Given the description of an element on the screen output the (x, y) to click on. 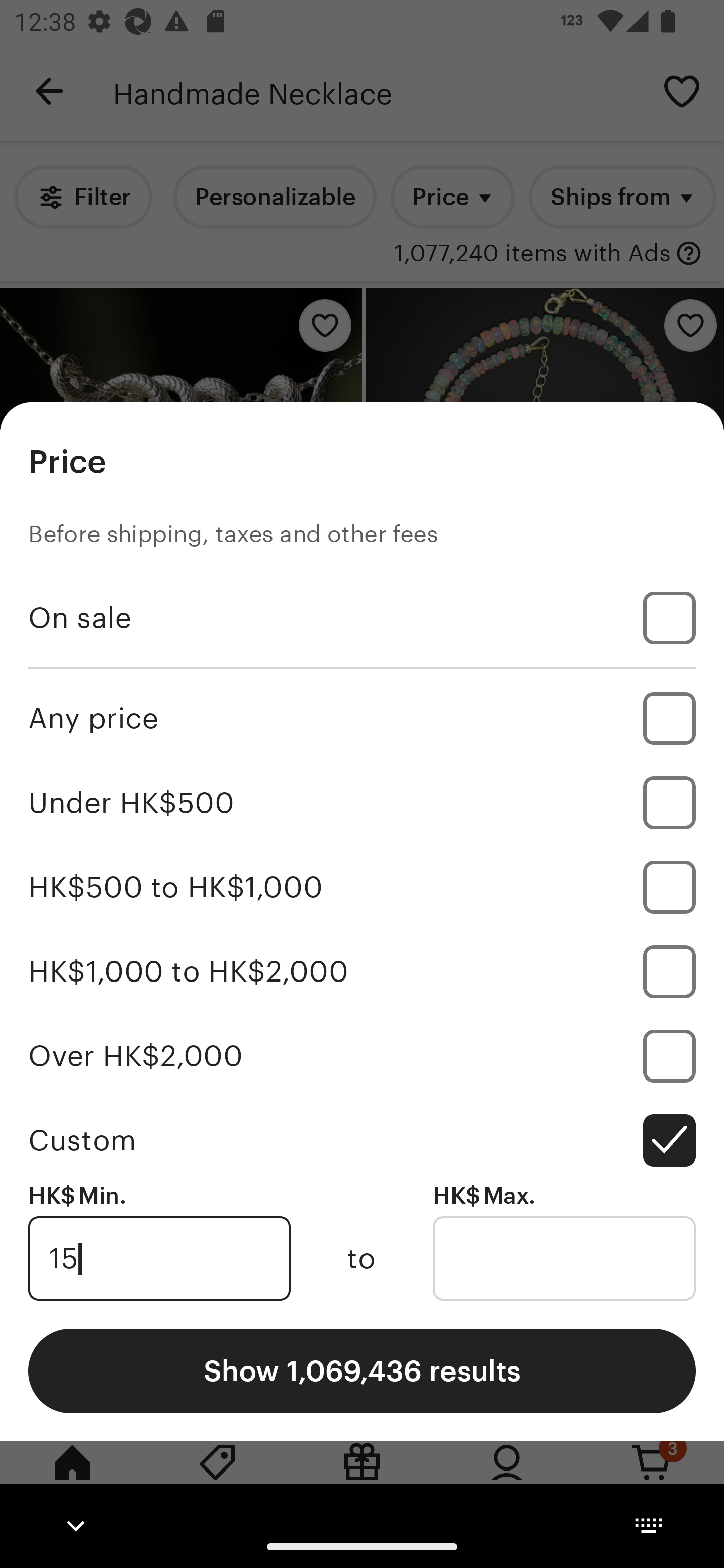
On sale (362, 617)
Any price (362, 717)
Under HK$500 (362, 802)
HK$500 to HK$1,000 (362, 887)
HK$1,000 to HK$2,000 (362, 970)
Over HK$2,000 (362, 1054)
Custom (362, 1139)
15 (159, 1257)
Show 1,069,436 results (361, 1370)
